Given the description of an element on the screen output the (x, y) to click on. 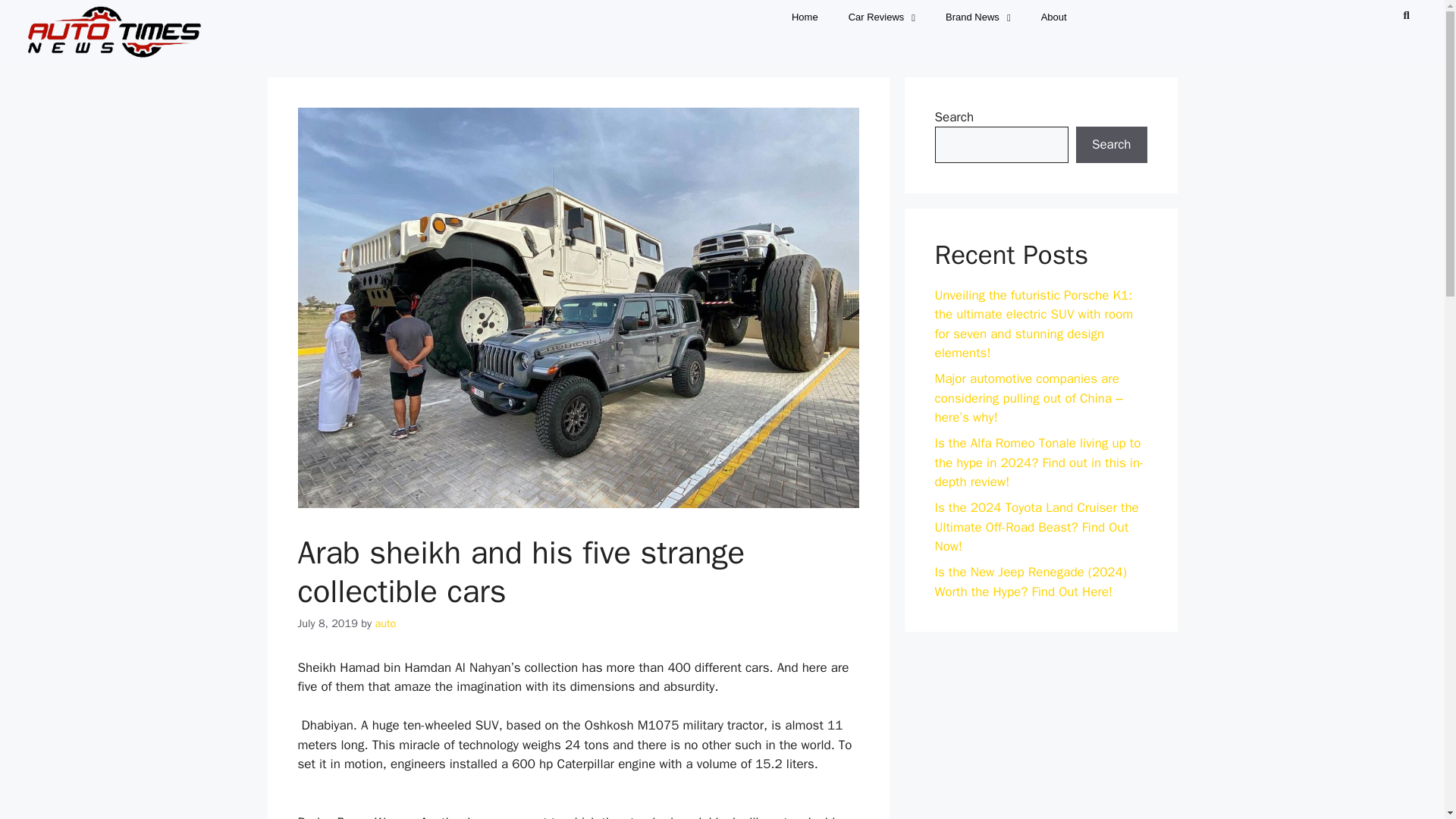
About (1053, 17)
auto (385, 622)
Search (1400, 14)
View all posts by auto (385, 622)
Home (804, 17)
Brand News (978, 17)
Car Reviews (881, 17)
